Given the description of an element on the screen output the (x, y) to click on. 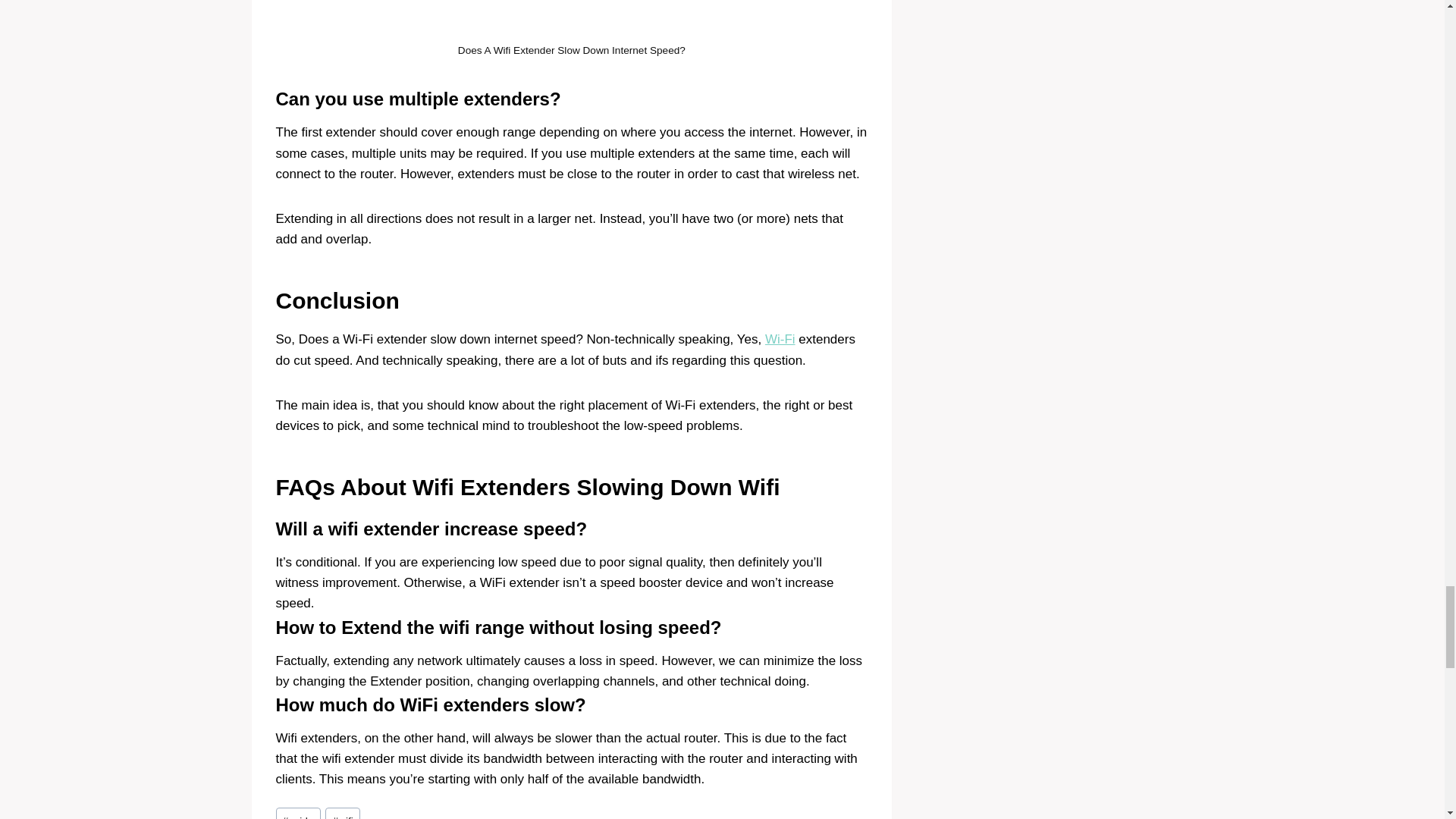
guide (298, 813)
wifi (341, 813)
Wi-Fi (779, 339)
